Given the description of an element on the screen output the (x, y) to click on. 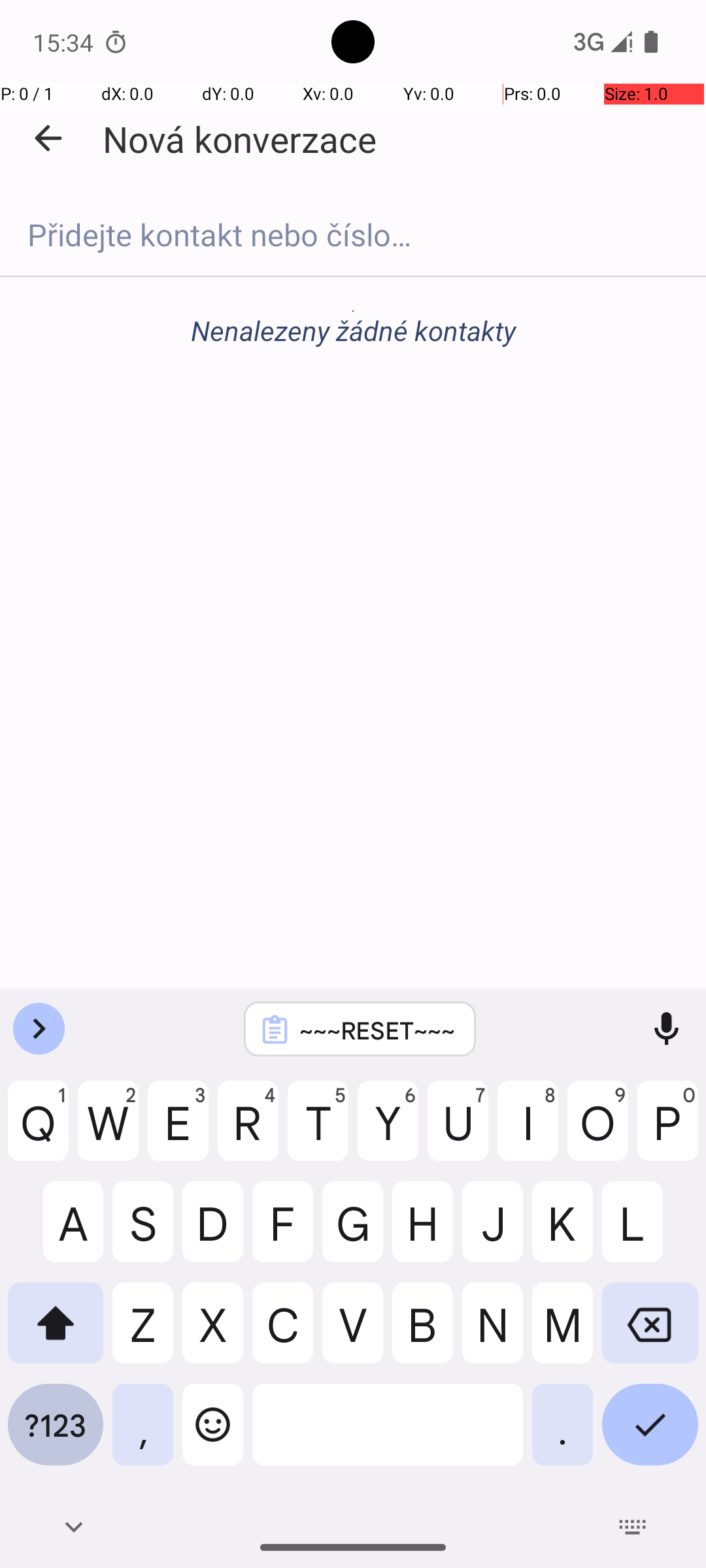
Nová konverzace Element type: android.widget.TextView (239, 138)
Přidejte kontakt nebo číslo… Element type: android.widget.EditText (352, 234)
Nenalezeny žádné kontakty Element type: android.widget.TextView (353, 329)
